Given the description of an element on the screen output the (x, y) to click on. 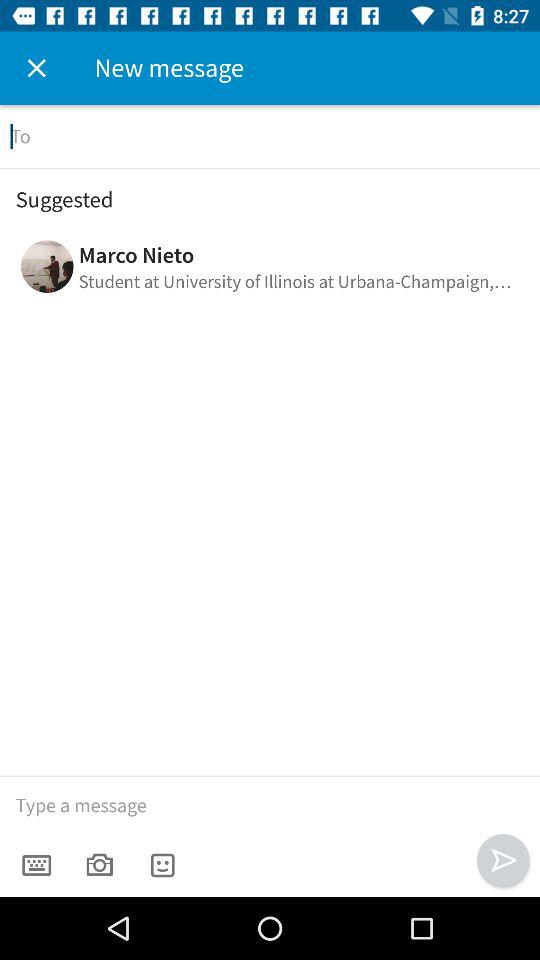
enter recipient here (269, 136)
